Given the description of an element on the screen output the (x, y) to click on. 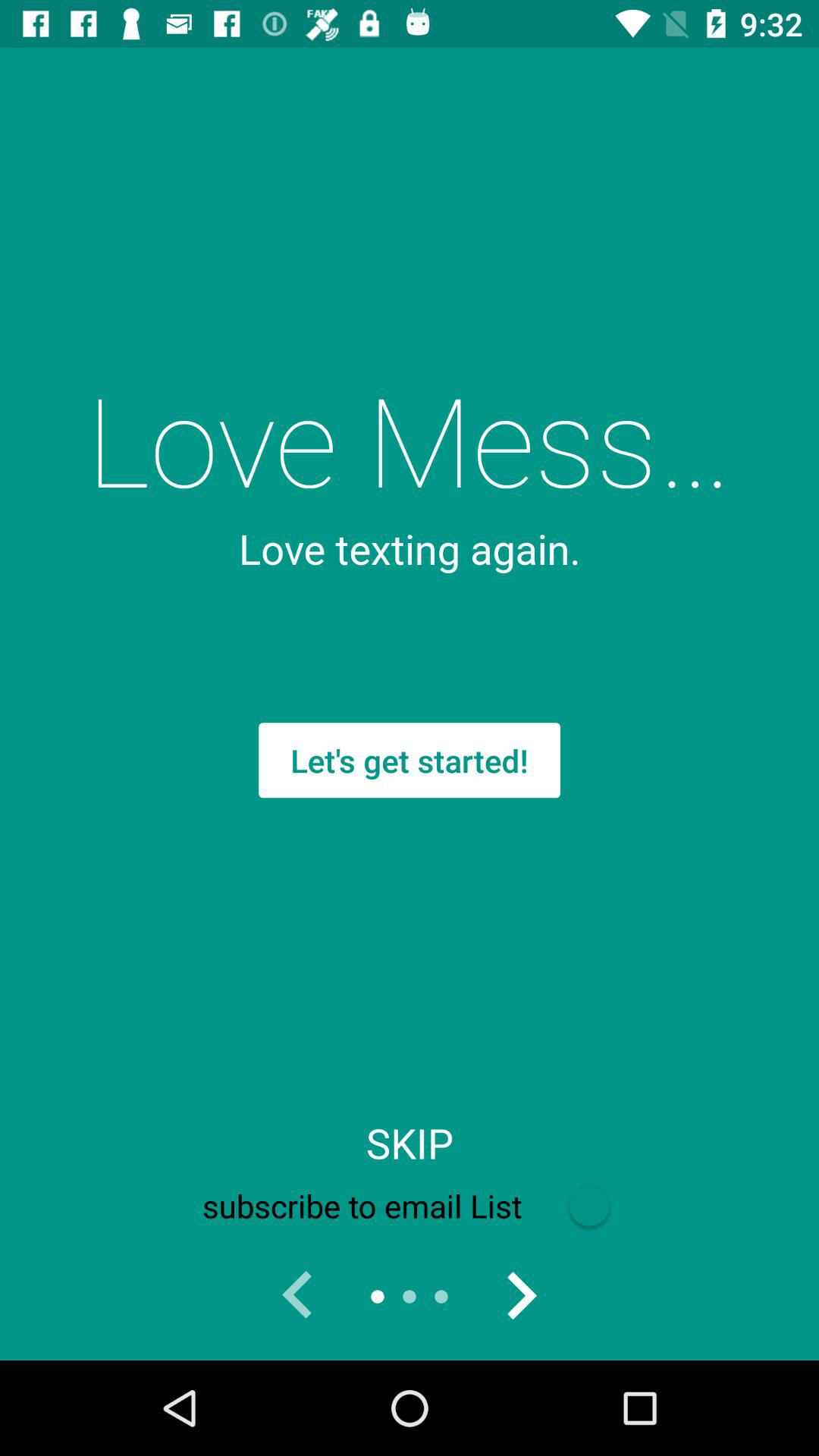
turn off the subscribe to email icon (409, 1206)
